Given the description of an element on the screen output the (x, y) to click on. 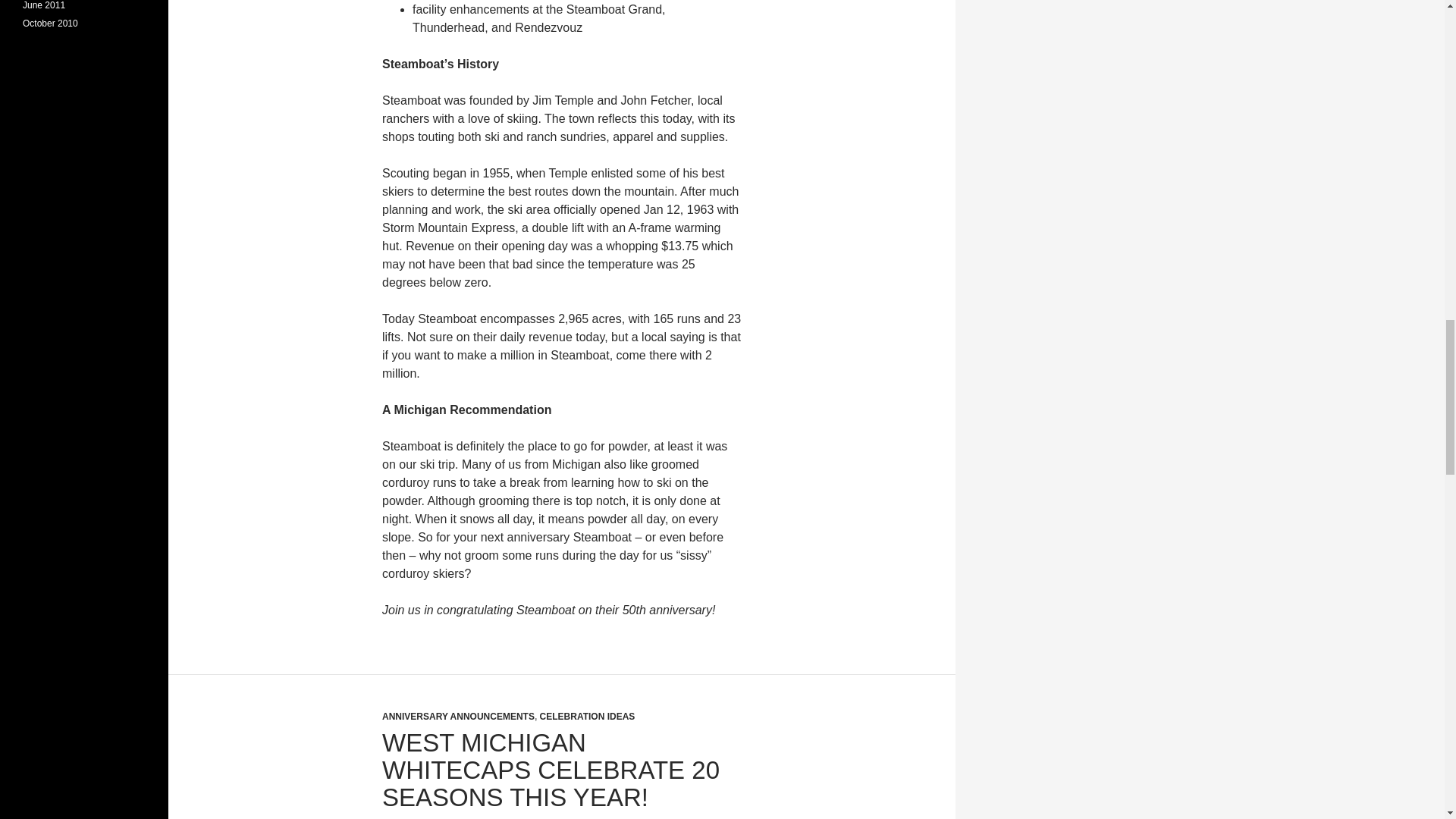
ANNIVERSARY ANNOUNCEMENTS (457, 716)
CELEBRATION IDEAS (587, 716)
WEST MICHIGAN WHITECAPS CELEBRATE 20 SEASONS THIS YEAR! (550, 769)
